Given the description of an element on the screen output the (x, y) to click on. 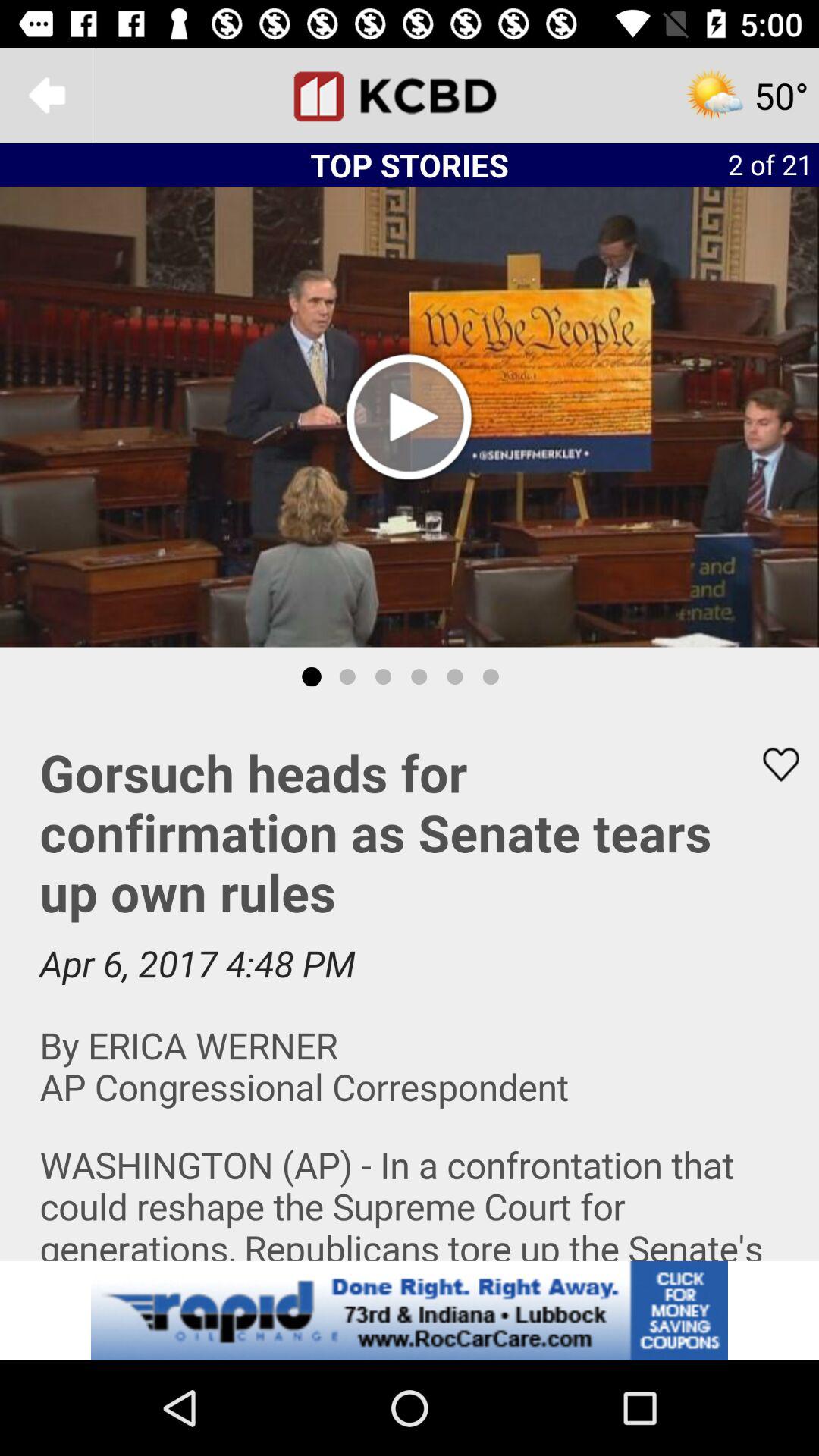
go back (47, 95)
